Given the description of an element on the screen output the (x, y) to click on. 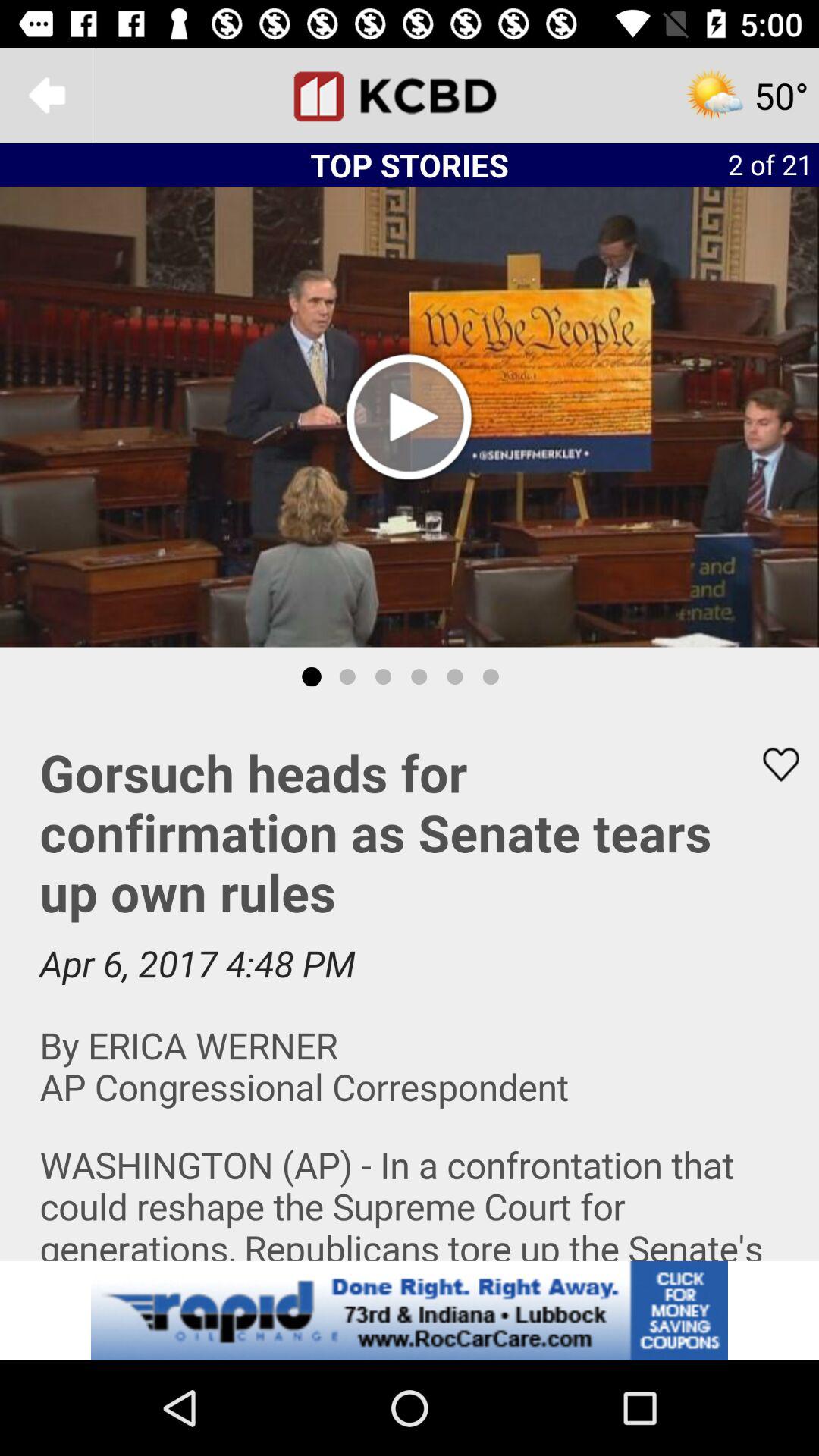
go back (47, 95)
